Given the description of an element on the screen output the (x, y) to click on. 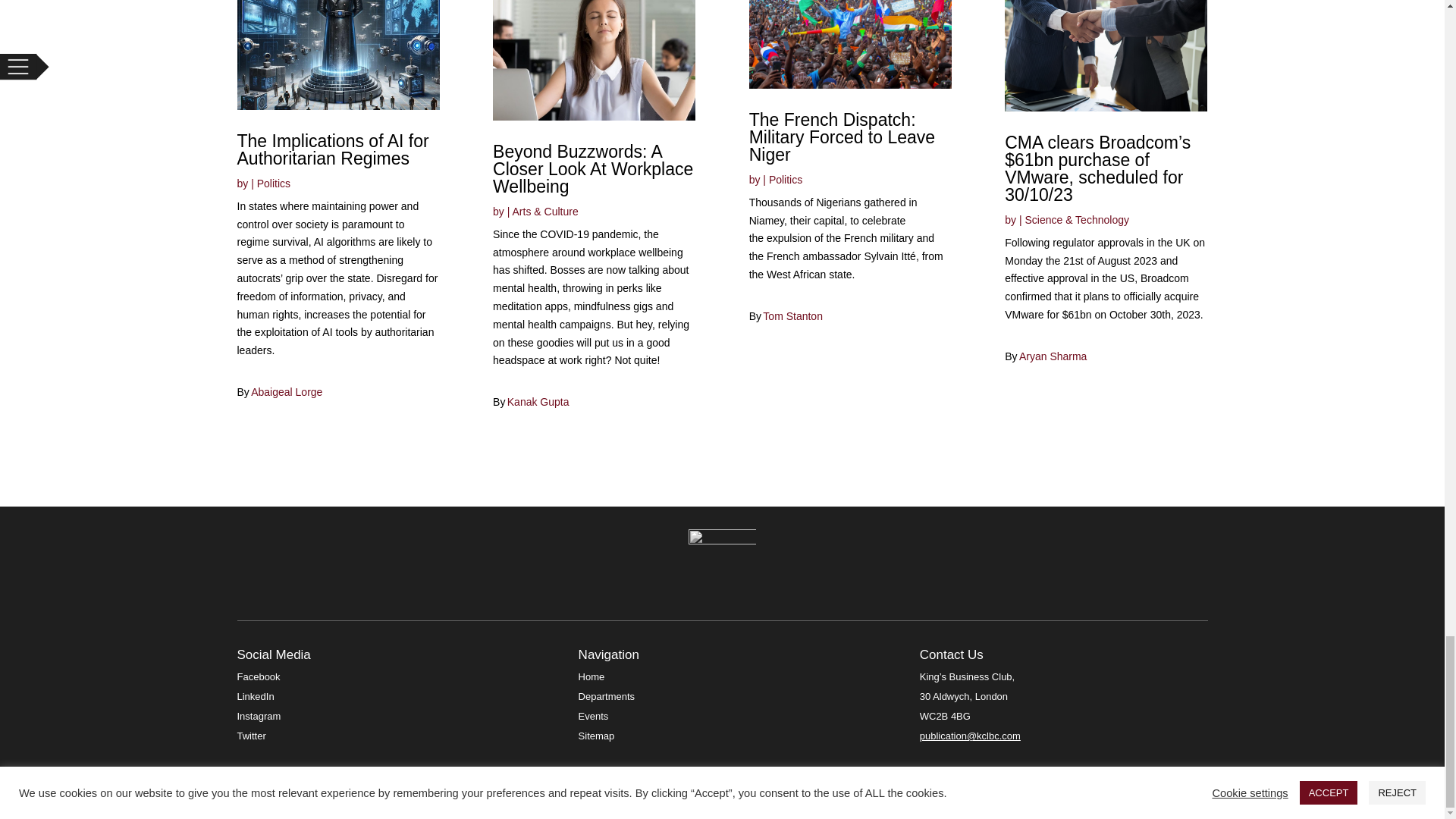
Posts by Tom Stanton (792, 316)
Posts by Abaigeal Lorge (285, 391)
Posts by Aryan Sharma (1052, 356)
KBR Favicon (722, 563)
Posts by Kanak Gupta (537, 401)
